Given the description of an element on the screen output the (x, y) to click on. 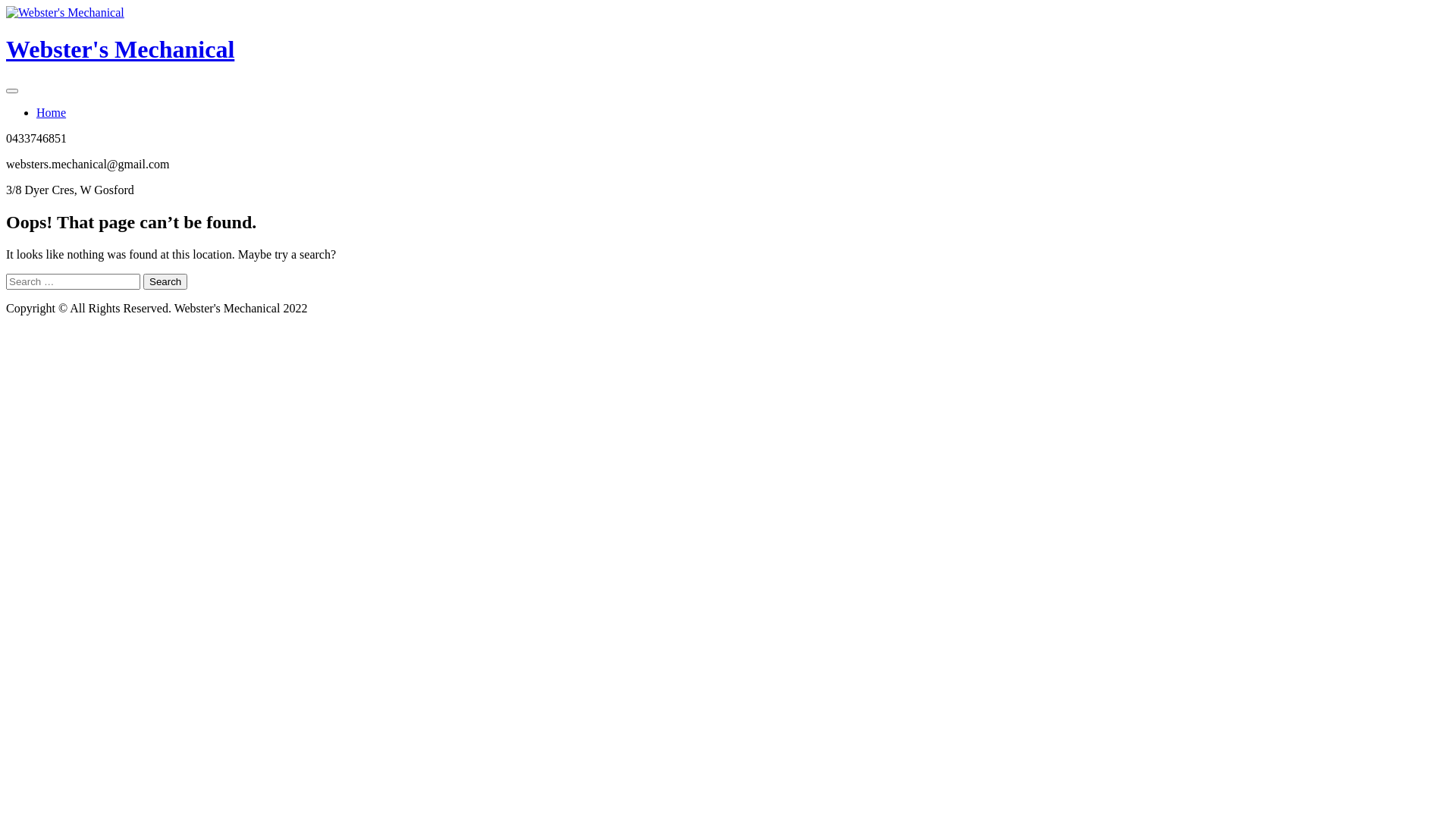
Search Element type: text (165, 281)
Home Element type: text (50, 112)
Open Button Element type: text (12, 90)
Skip to content Element type: text (5, 5)
Webster's Mechanical Element type: text (120, 48)
